Given the description of an element on the screen output the (x, y) to click on. 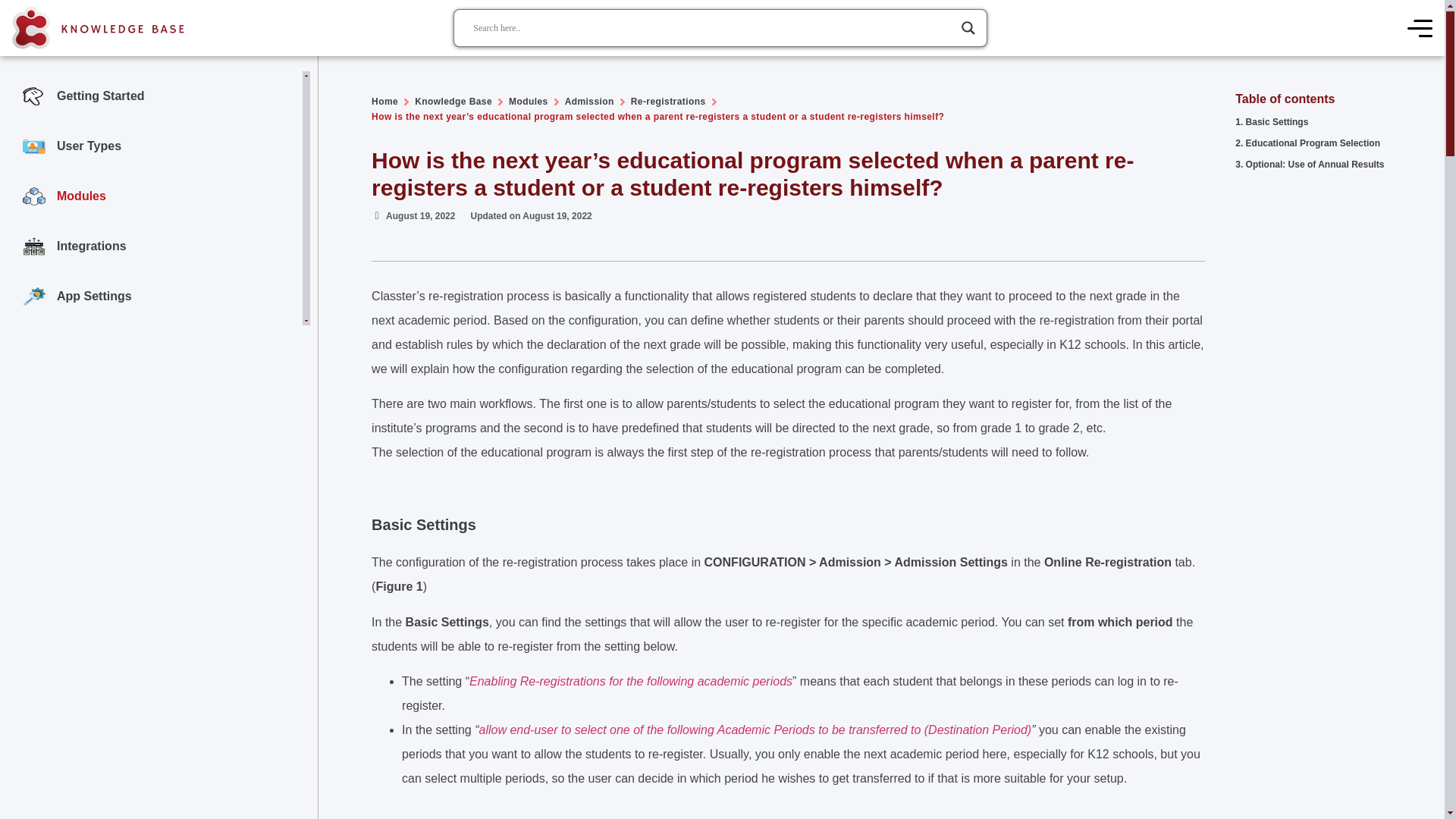
Knowledge Base (453, 101)
Re-registrations (668, 101)
Admission (589, 101)
Home (384, 101)
Modules (528, 101)
